Given the description of an element on the screen output the (x, y) to click on. 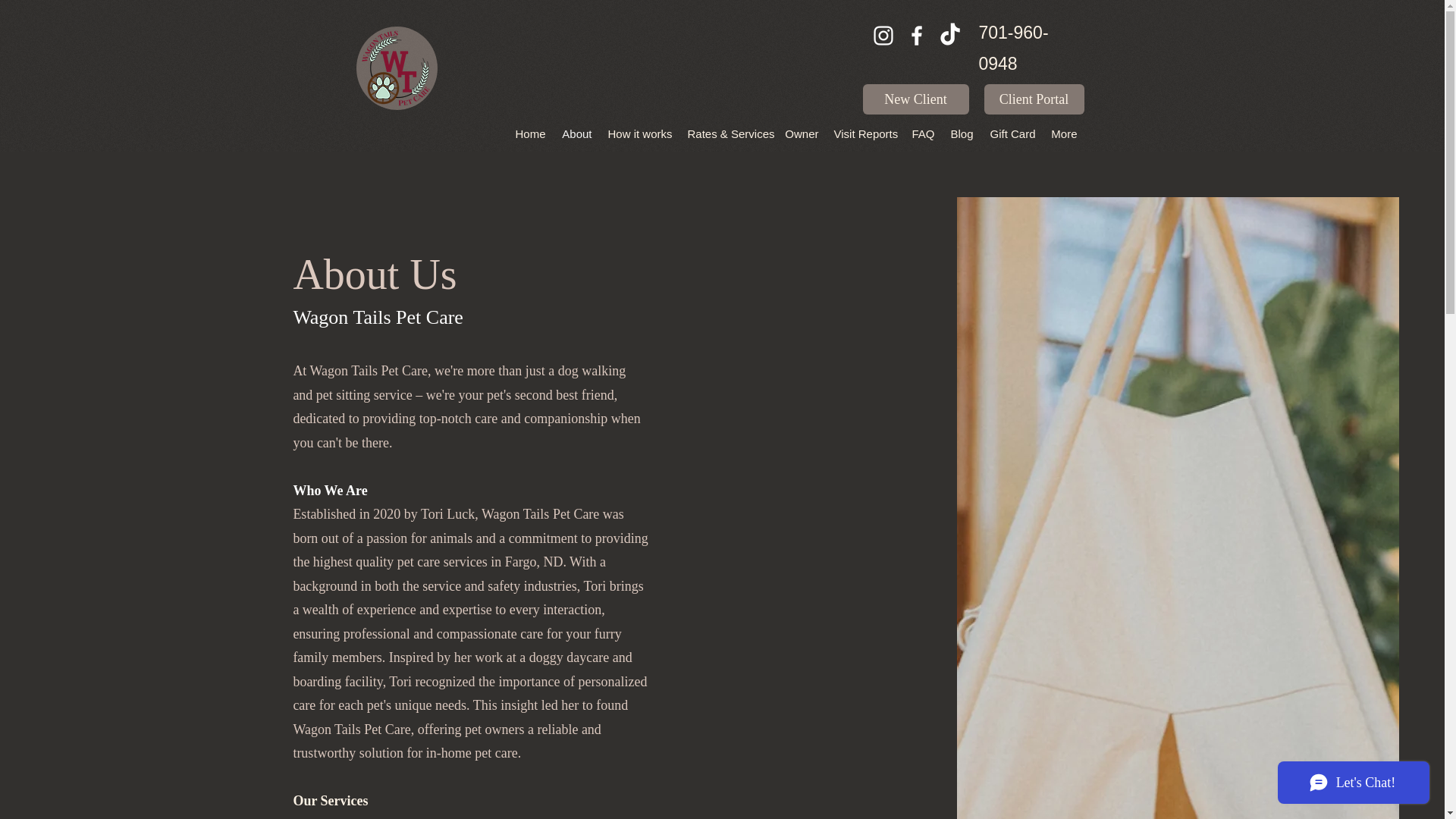
Gift Card (1012, 133)
Blog (960, 133)
How it works (638, 133)
New Client (916, 99)
Home (529, 133)
About (576, 133)
Owner (800, 133)
FAQ (923, 133)
Visit Reports (865, 133)
Client Portal (1034, 99)
